Given the description of an element on the screen output the (x, y) to click on. 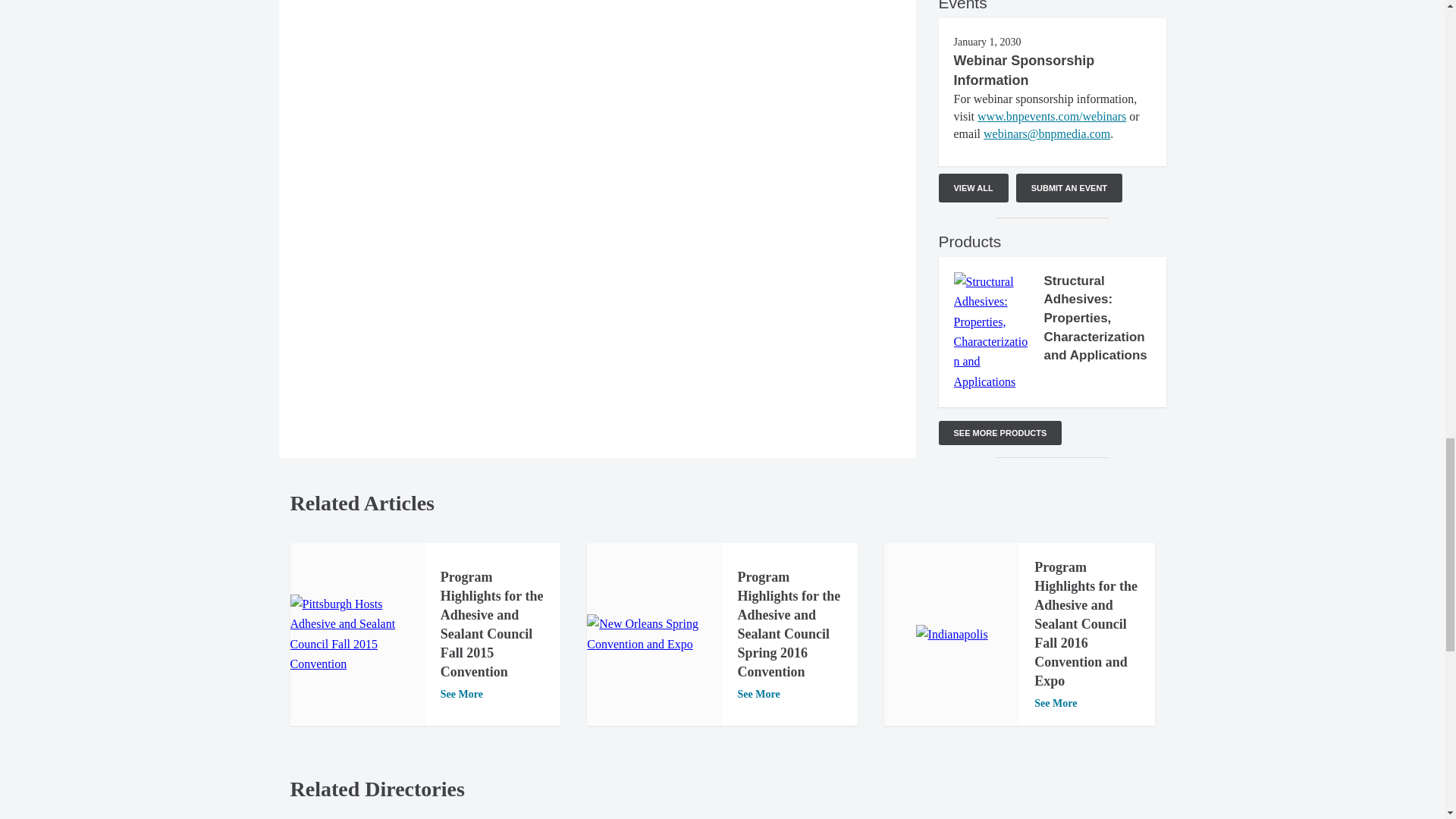
New Orleans Spring Convention and Expo (654, 634)
Webinar Sponsorship Information (1023, 70)
